Given the description of an element on the screen output the (x, y) to click on. 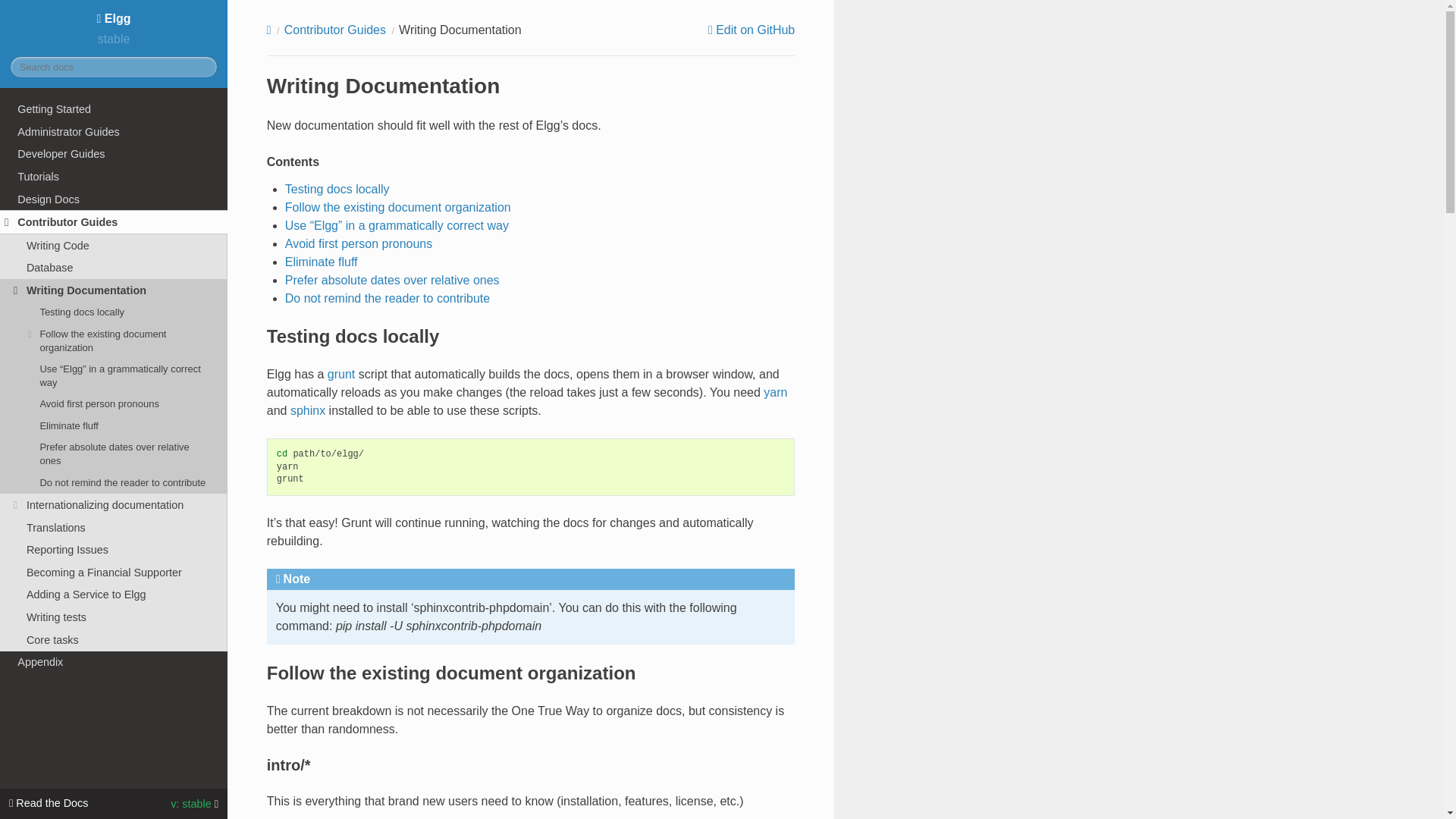
Tutorials (113, 176)
Elgg (114, 18)
Eliminate fluff (113, 425)
Becoming a Financial Supporter (113, 572)
Adding a Service to Elgg (113, 594)
Contributor Guides (113, 221)
Database (113, 268)
Follow the existing document organization (113, 339)
Prefer absolute dates over relative ones (113, 453)
Do not remind the reader to contribute (113, 482)
